Given the description of an element on the screen output the (x, y) to click on. 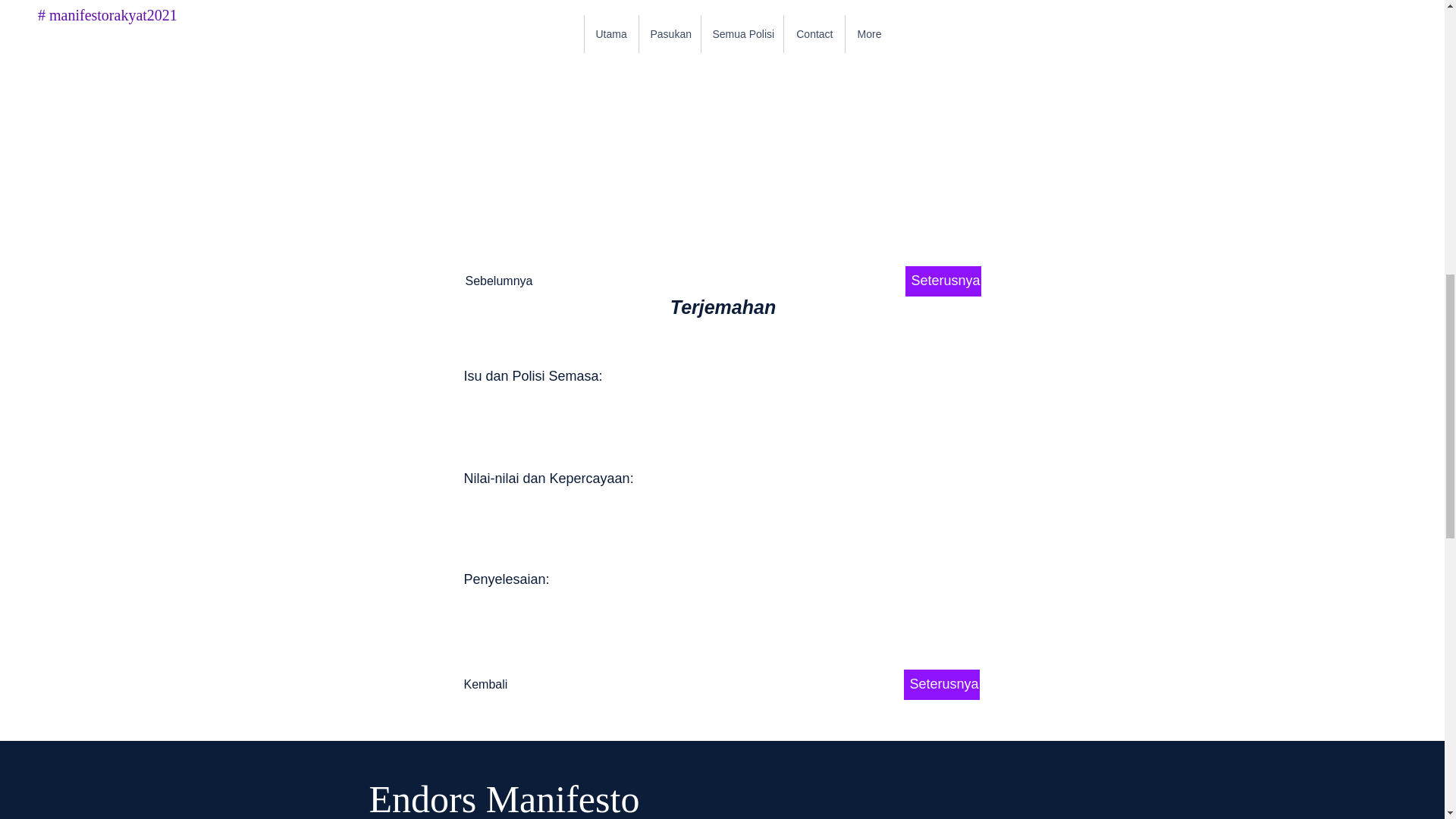
Sebelumnya (515, 281)
Seterusnya (941, 684)
Kembali (514, 684)
Seterusnya (943, 281)
